Given the description of an element on the screen output the (x, y) to click on. 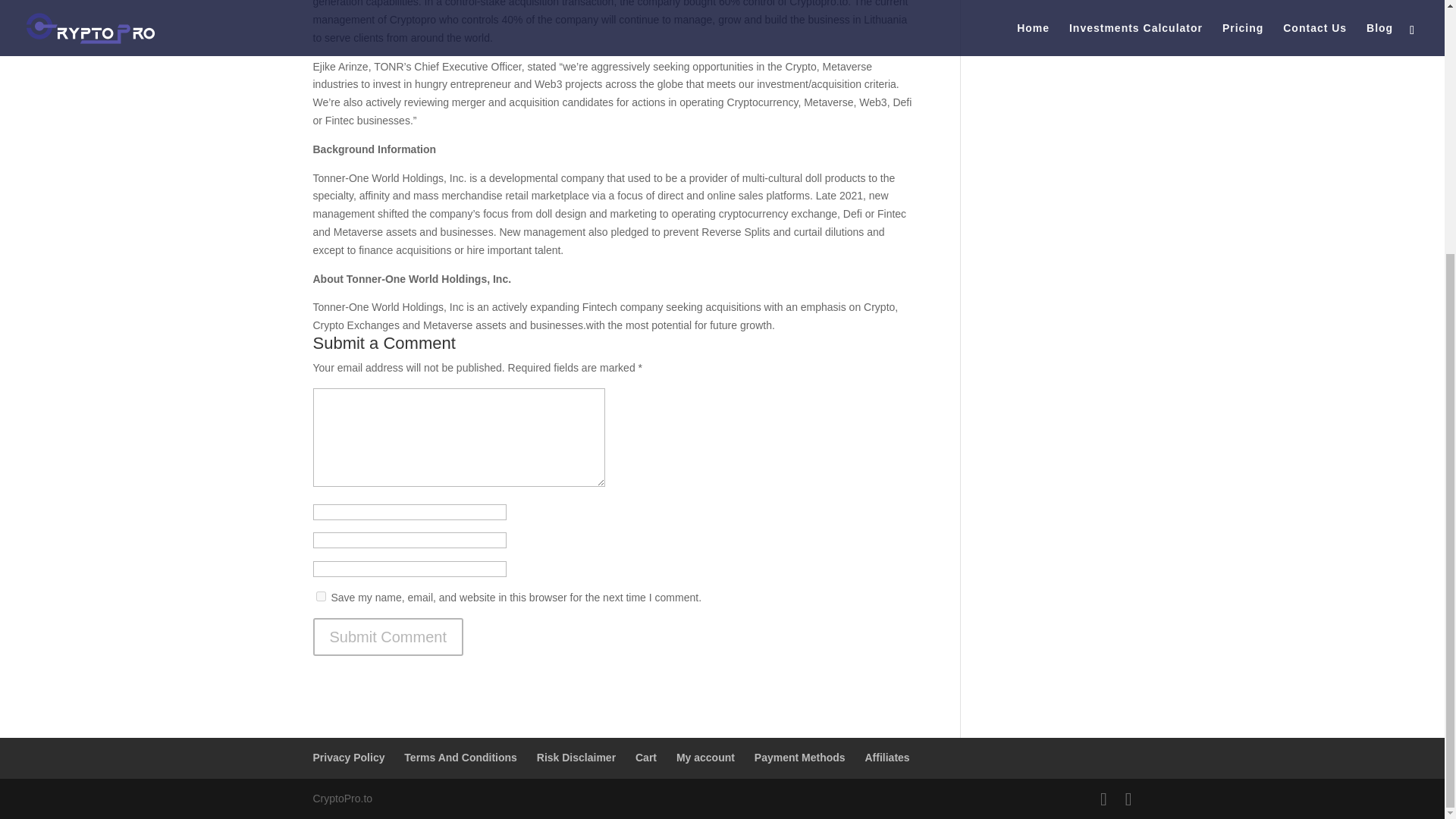
Submit Comment (388, 637)
My account (706, 757)
yes (319, 596)
Terms And Conditions (460, 757)
Payment Methods (799, 757)
Affiliates (886, 757)
Risk Disclaimer (576, 757)
Submit Comment (388, 637)
Cart (645, 757)
Privacy Policy (348, 757)
